Given the description of an element on the screen output the (x, y) to click on. 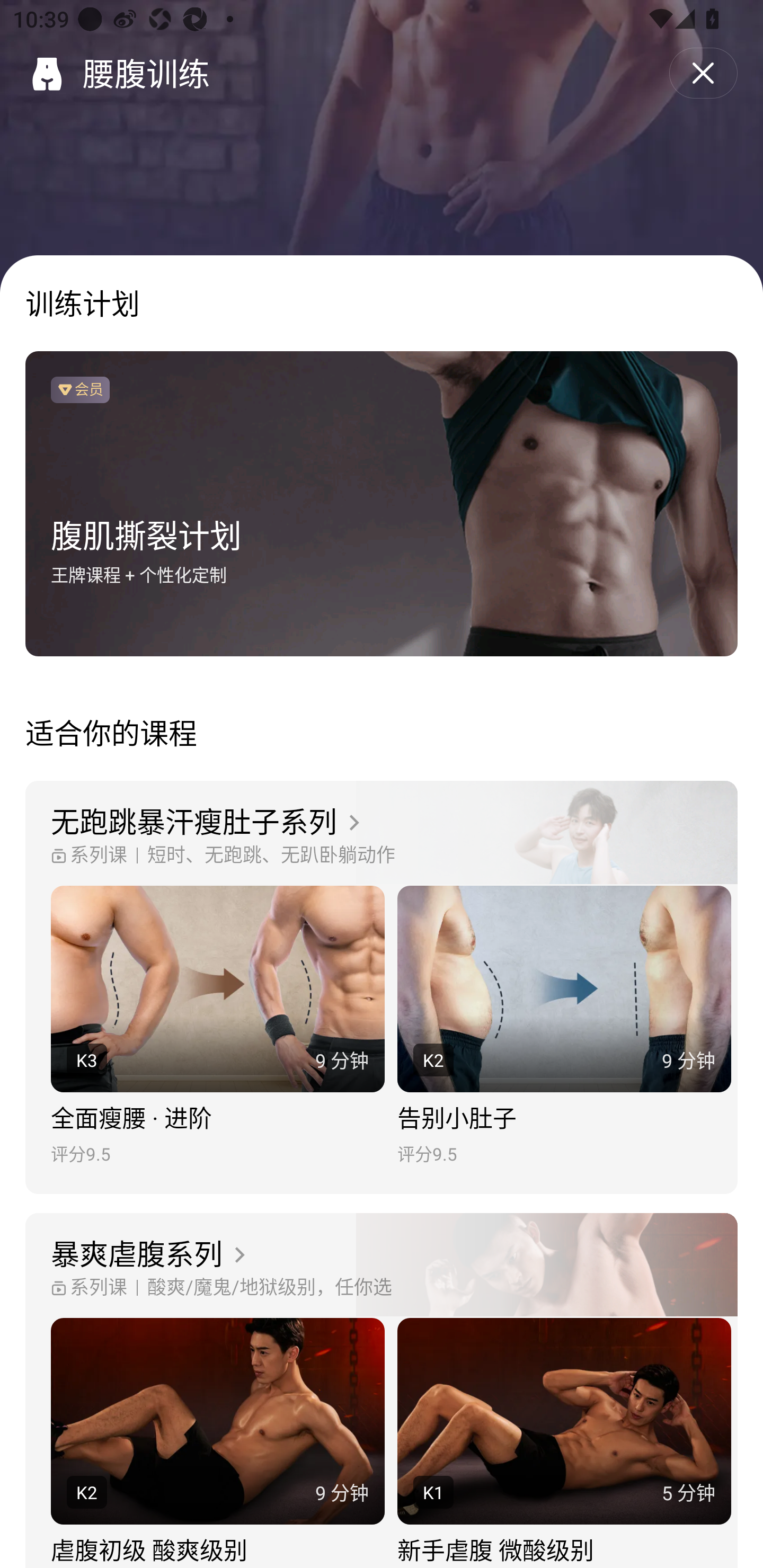
会员 腹肌撕裂计划 王牌课程 + 个性化定制 (381, 503)
无跑跳暴汗瘦肚子系列 系列课 短时、无跑跳、无趴卧躺动作 (381, 832)
K3 9 分钟 全面瘦腰 · 进阶 评分9.5 (217, 1025)
K2 9 分钟 告别小肚子 评分9.5 (563, 1025)
暴爽虐腹系列 系列课 酸爽/魔鬼/地狱级别，任你选 (381, 1265)
K2 9 分钟 虐腹初级 酸爽级别 (217, 1443)
K1 5 分钟 新手虐腹 微酸级别 (563, 1443)
